Given the description of an element on the screen output the (x, y) to click on. 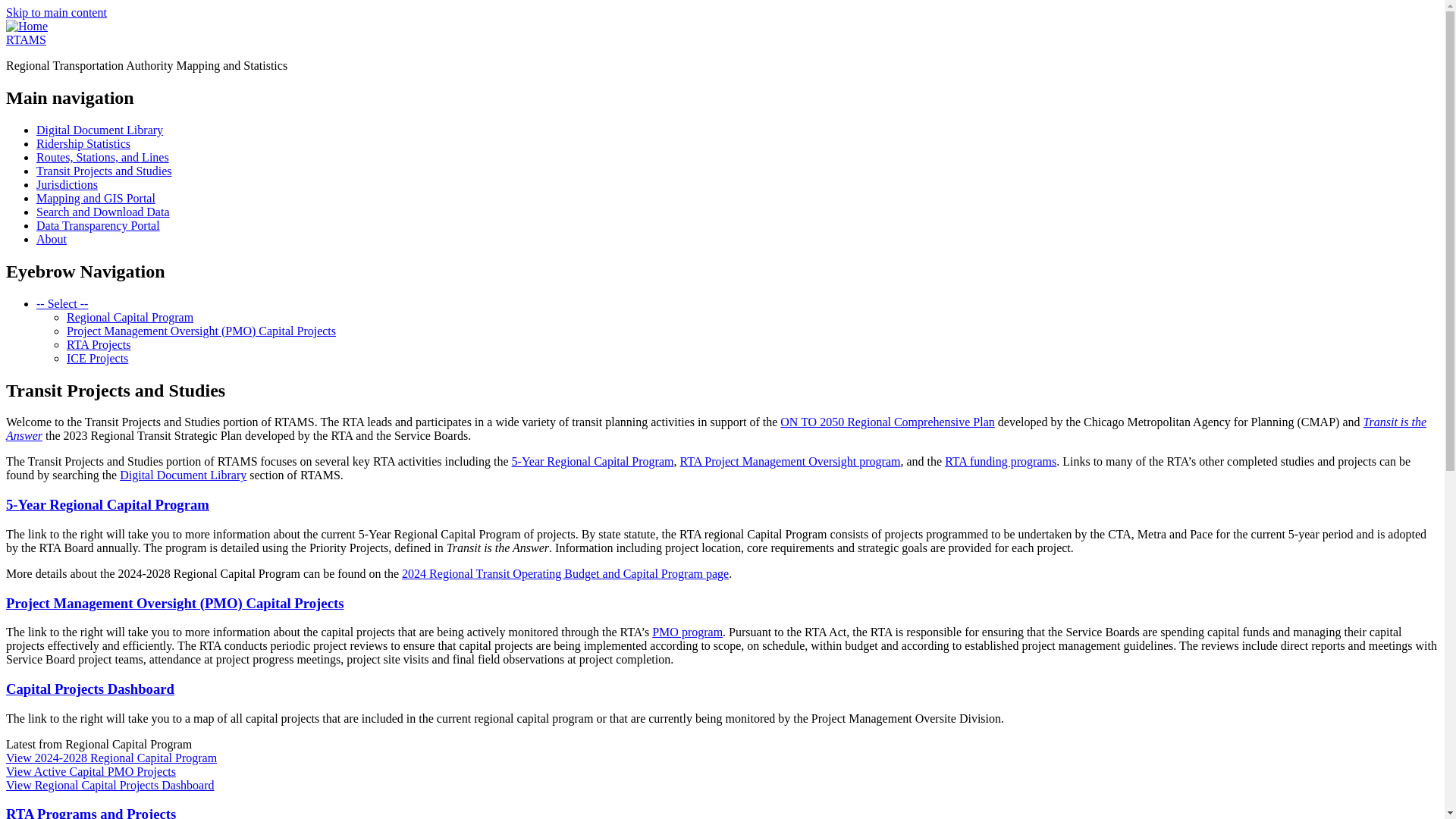
Digital Document Library (99, 129)
Skip to main content (55, 11)
RTA funding programs (1000, 461)
5-Year Regional Capital Program (107, 504)
-- Select -- (61, 303)
Routes, Stations, and Lines (102, 156)
View Active Capital PMO Projects (90, 771)
PMO program (687, 631)
Mapping and GIS Portal (95, 197)
Jurisdictions (66, 184)
RTAMS (25, 39)
5-Year Regional Capital Program (593, 461)
Capital Projects Dashboard (89, 688)
View Regional Capital Projects Dashboard (109, 784)
ICE Projects (97, 358)
